Given the description of an element on the screen output the (x, y) to click on. 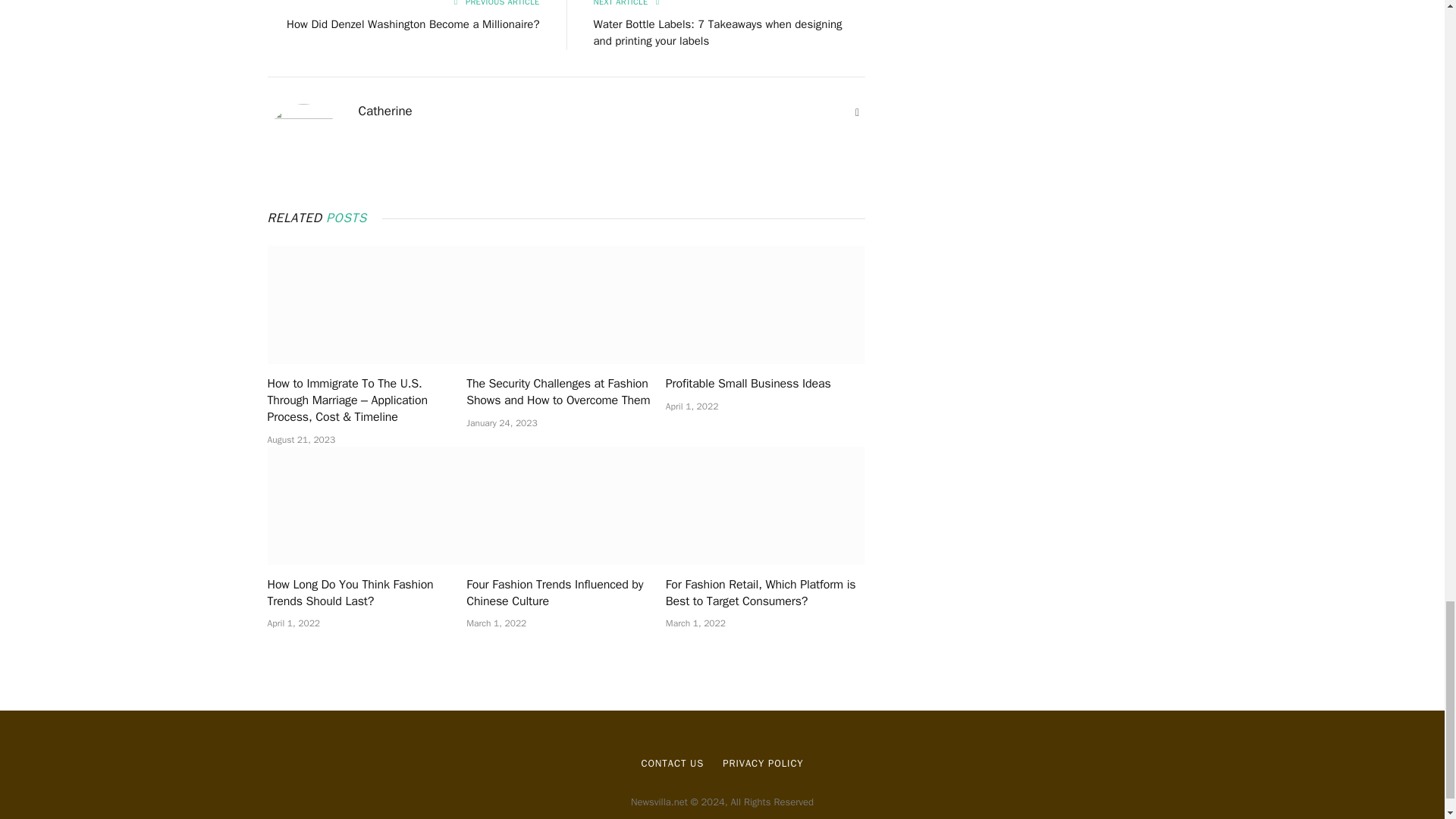
Website (856, 112)
Website (856, 112)
Four Fashion Trends Influenced by Chinese Culture (565, 593)
Posts by Catherine (385, 111)
How Long Do You Think Fashion Trends Should Last? (365, 593)
Catherine (385, 111)
How Did Denzel Washington Become a Millionaire? (412, 24)
Profitable Small Business Ideas (764, 384)
How Long Do You Think Fashion Trends Should Last? (365, 505)
Profitable Small Business Ideas (764, 304)
